Given the description of an element on the screen output the (x, y) to click on. 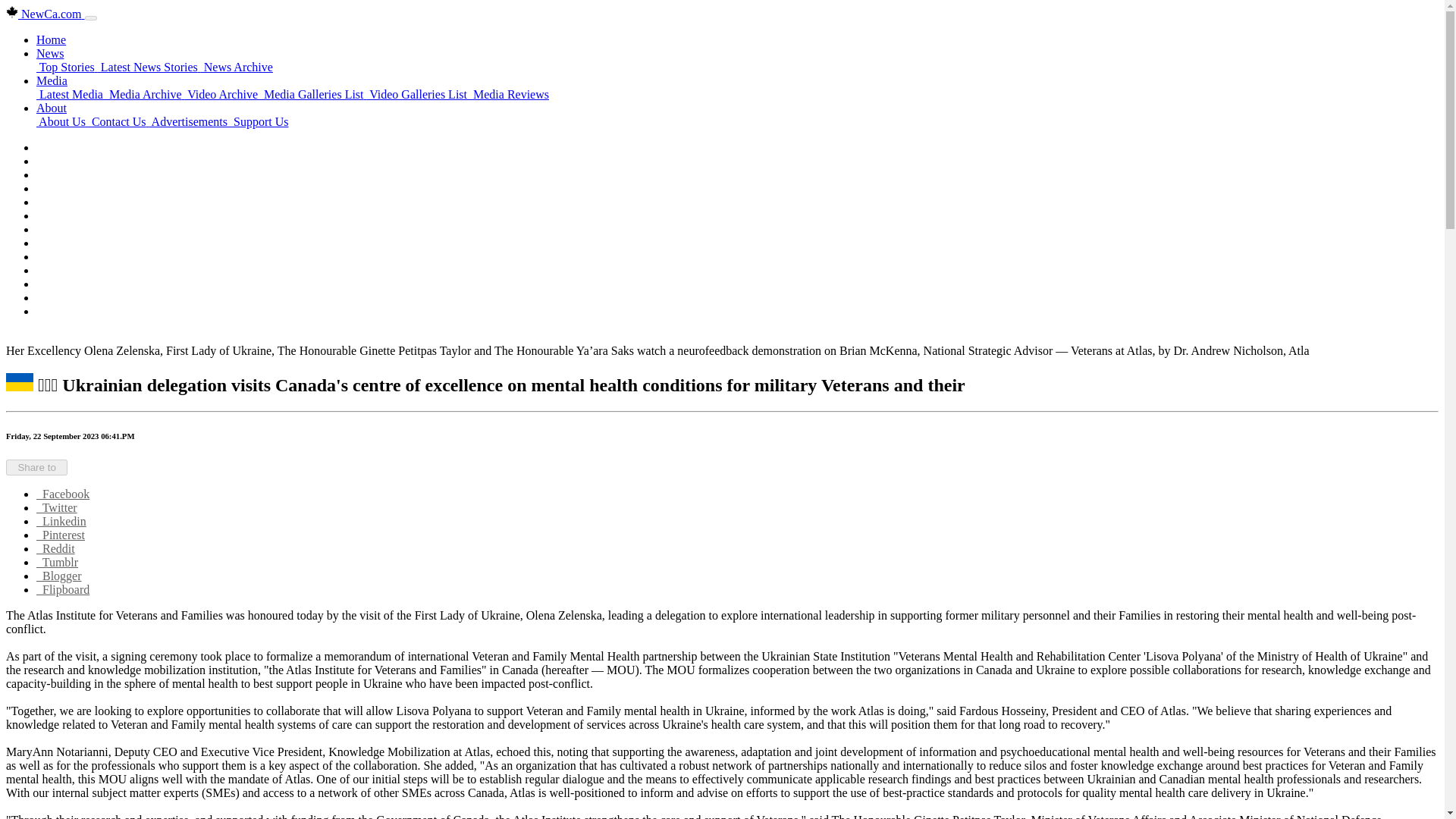
 Video Galleries List (418, 93)
Home (50, 39)
 Share to Social Network  (35, 467)
  Reddit (55, 548)
 Media Archive (145, 93)
 News Archive (236, 66)
 Latest Media (71, 93)
Media (51, 80)
  Facebook (62, 493)
 Media Galleries List (313, 93)
